Given the description of an element on the screen output the (x, y) to click on. 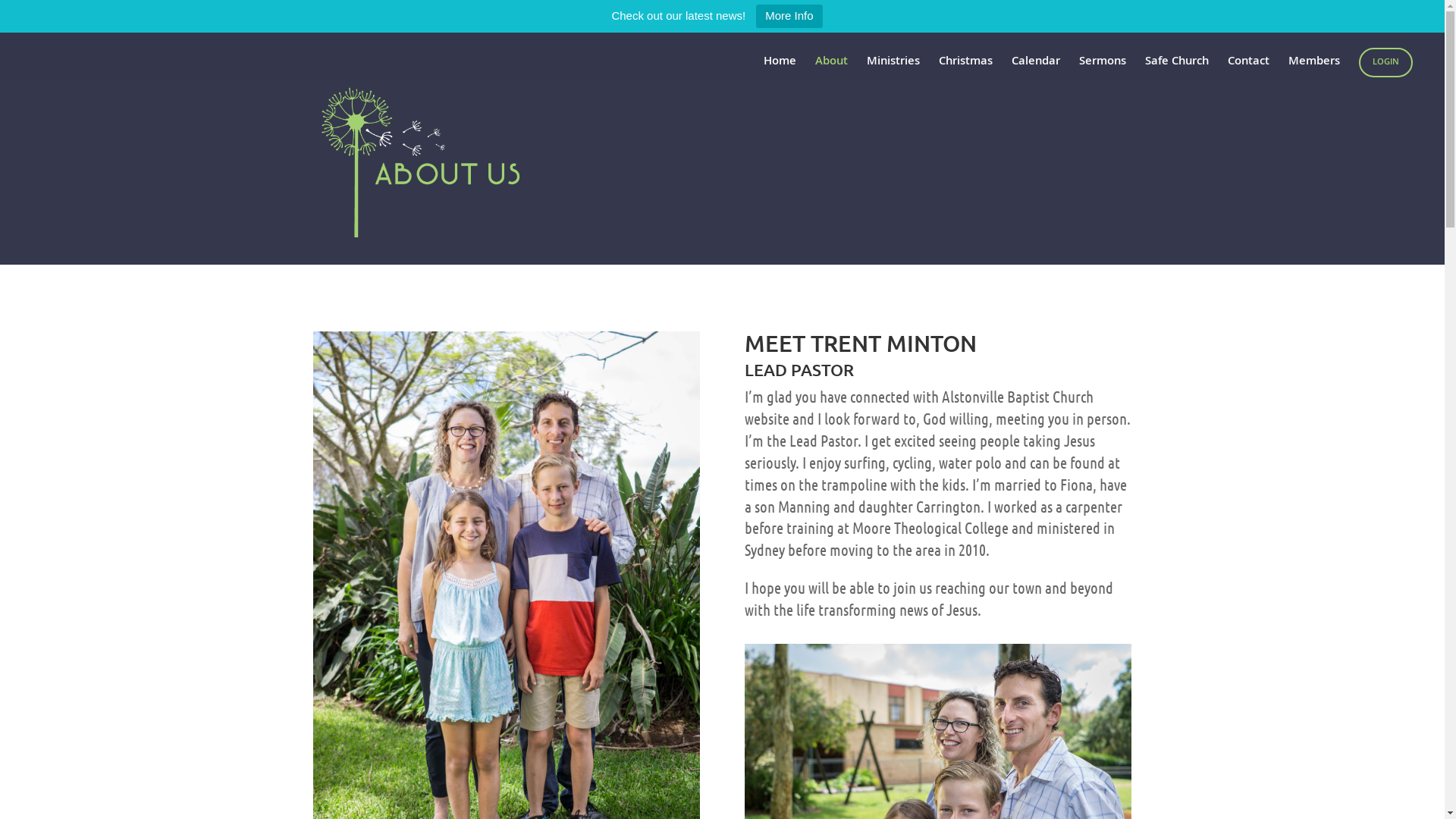
About Element type: text (831, 68)
Home Element type: text (779, 68)
Ministries Element type: text (892, 68)
Contact Element type: text (1248, 68)
Members Element type: text (1313, 68)
Christmas Element type: text (965, 68)
LOGIN Element type: text (1385, 62)
Safe Church Element type: text (1176, 68)
Calendar Element type: text (1035, 68)
Sermons Element type: text (1102, 68)
More Info Element type: text (789, 16)
